Given the description of an element on the screen output the (x, y) to click on. 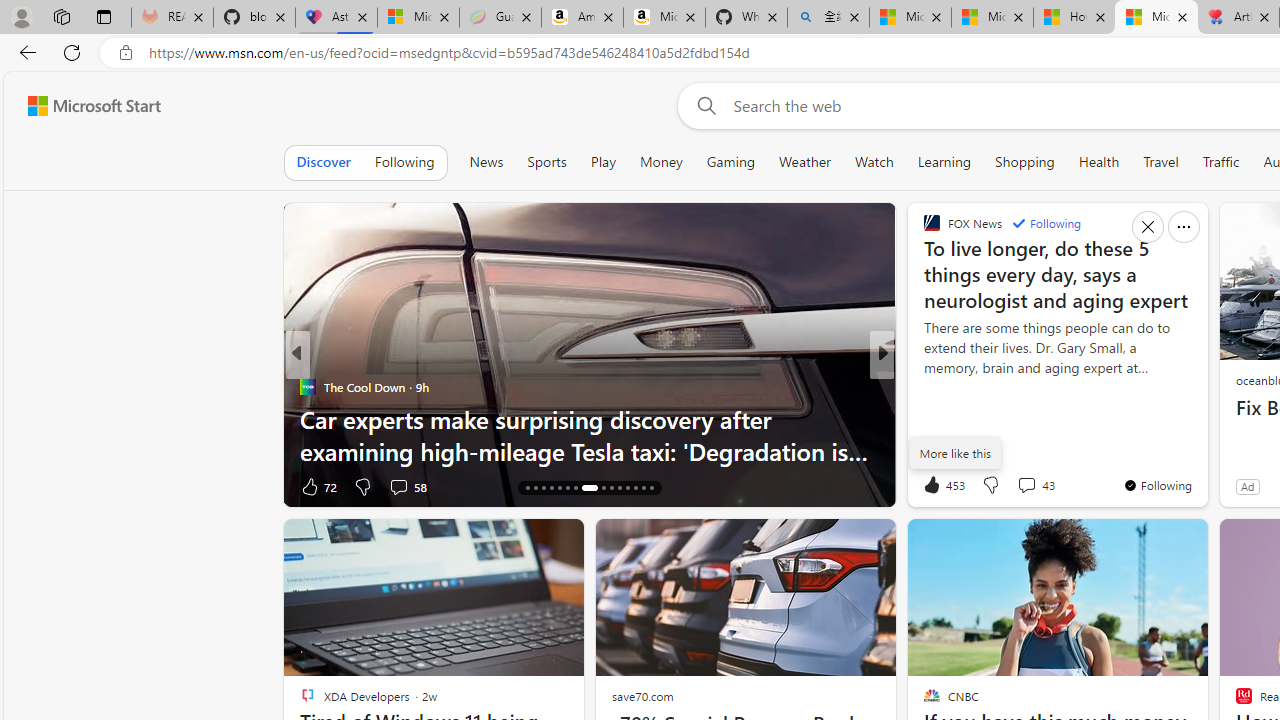
Savvy Dime (923, 386)
AutomationID: tab-24 (597, 487)
View comments 67 Comment (1029, 486)
